Given the description of an element on the screen output the (x, y) to click on. 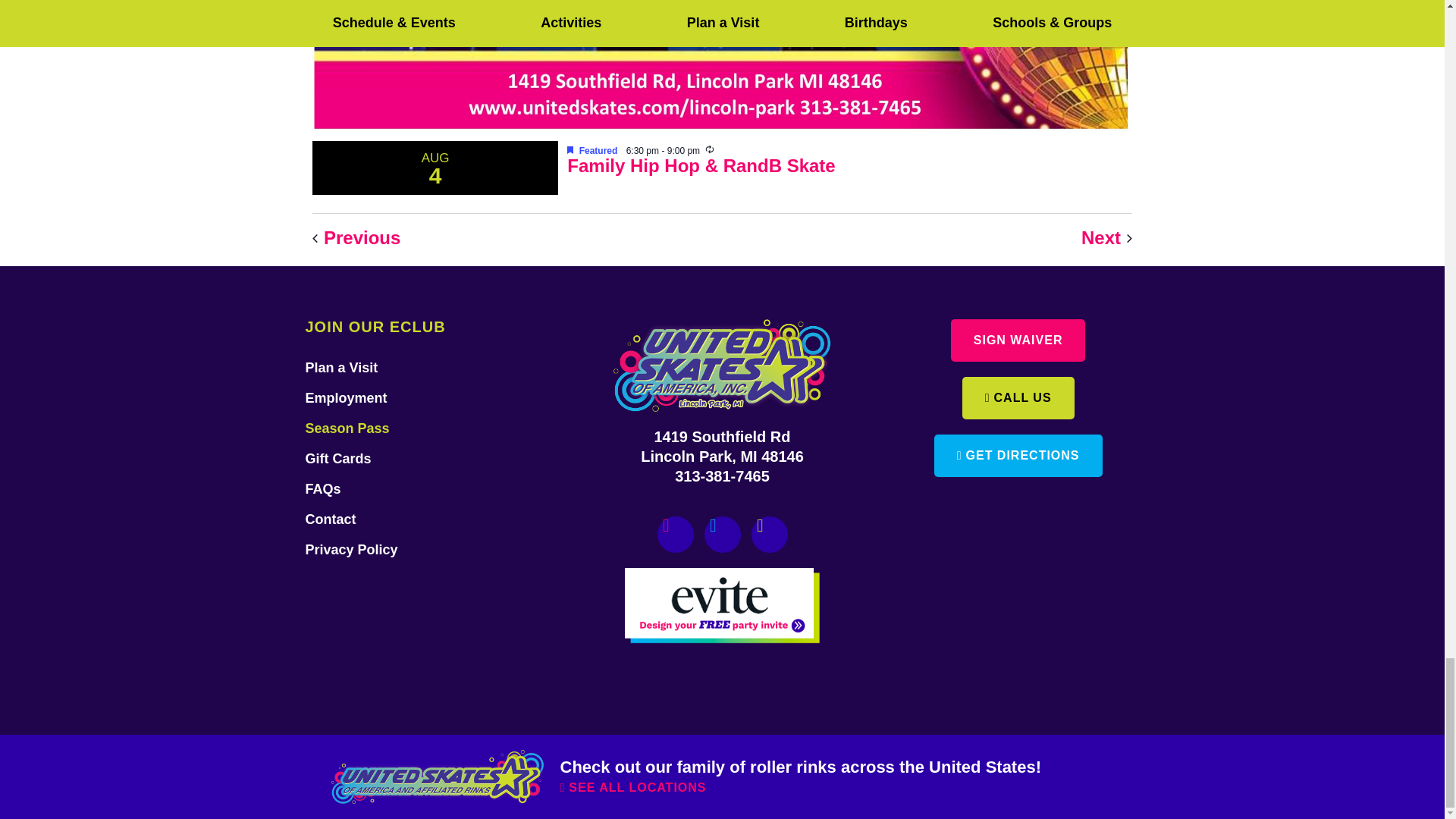
Recurring (709, 148)
